Given the description of an element on the screen output the (x, y) to click on. 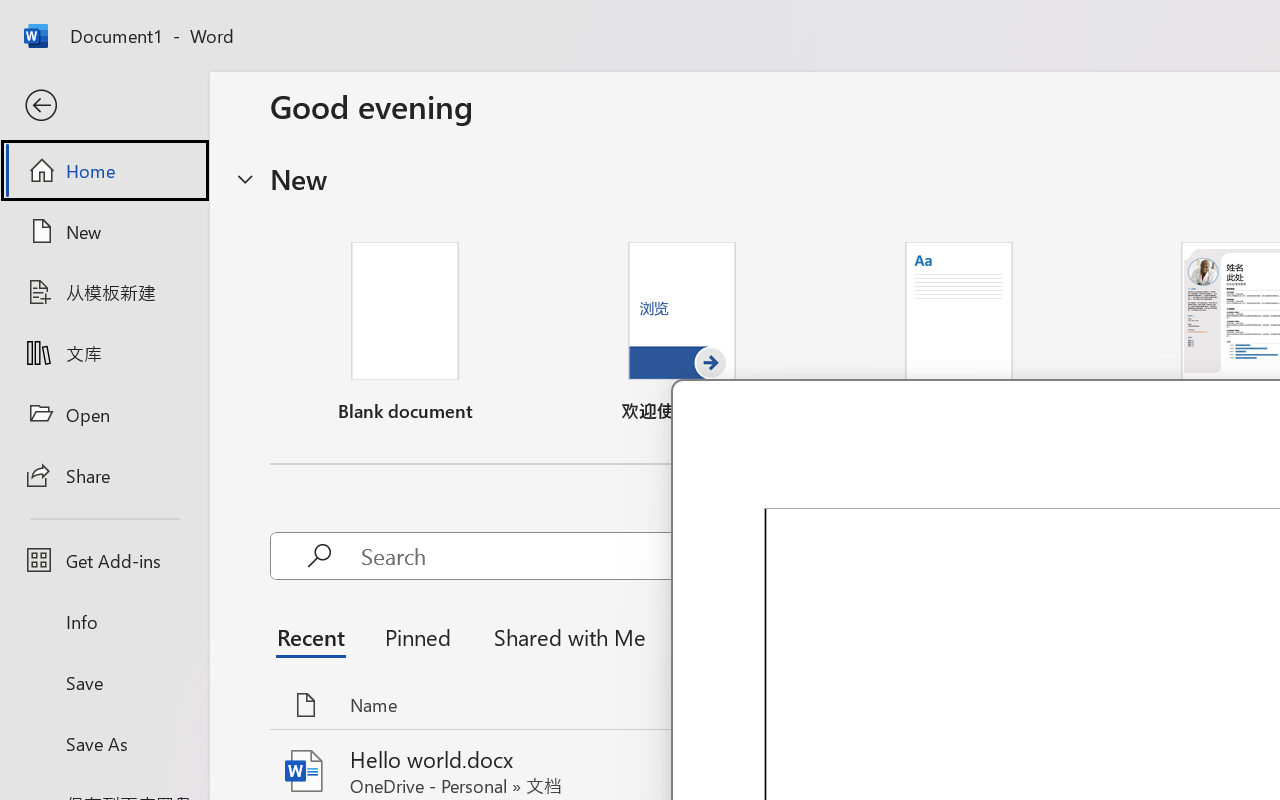
Hide or show region (245, 178)
Recent (316, 636)
Pinned (417, 636)
Get Add-ins (104, 560)
Shared with Me (563, 636)
Back (104, 106)
New (104, 231)
Search (665, 555)
